Given the description of an element on the screen output the (x, y) to click on. 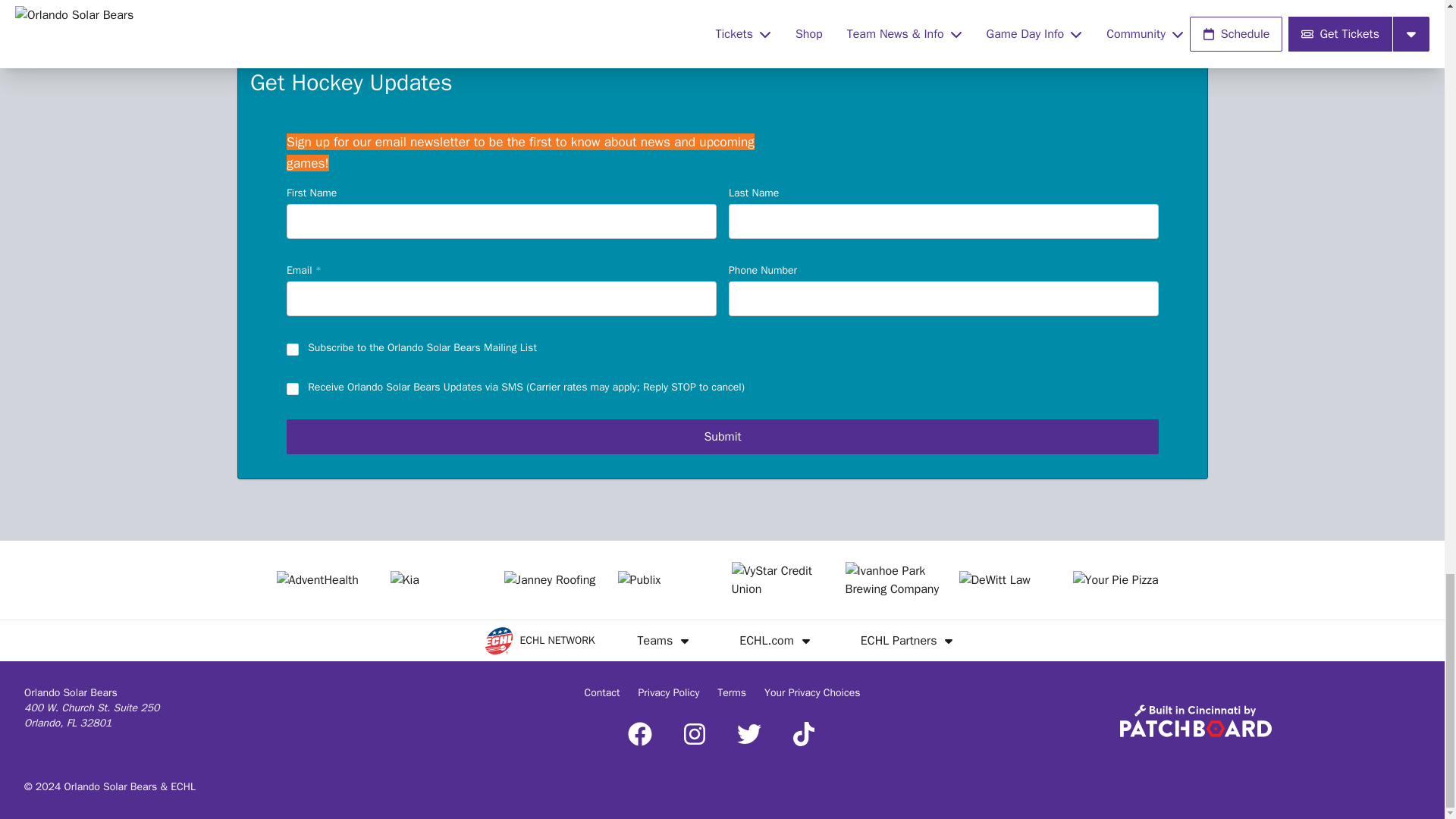
Built in Cincinnati by Patchboard (1195, 720)
Twitter (749, 733)
Facebook (639, 733)
on (292, 349)
TikTok (804, 733)
Instagram (694, 733)
on (292, 389)
